Given the description of an element on the screen output the (x, y) to click on. 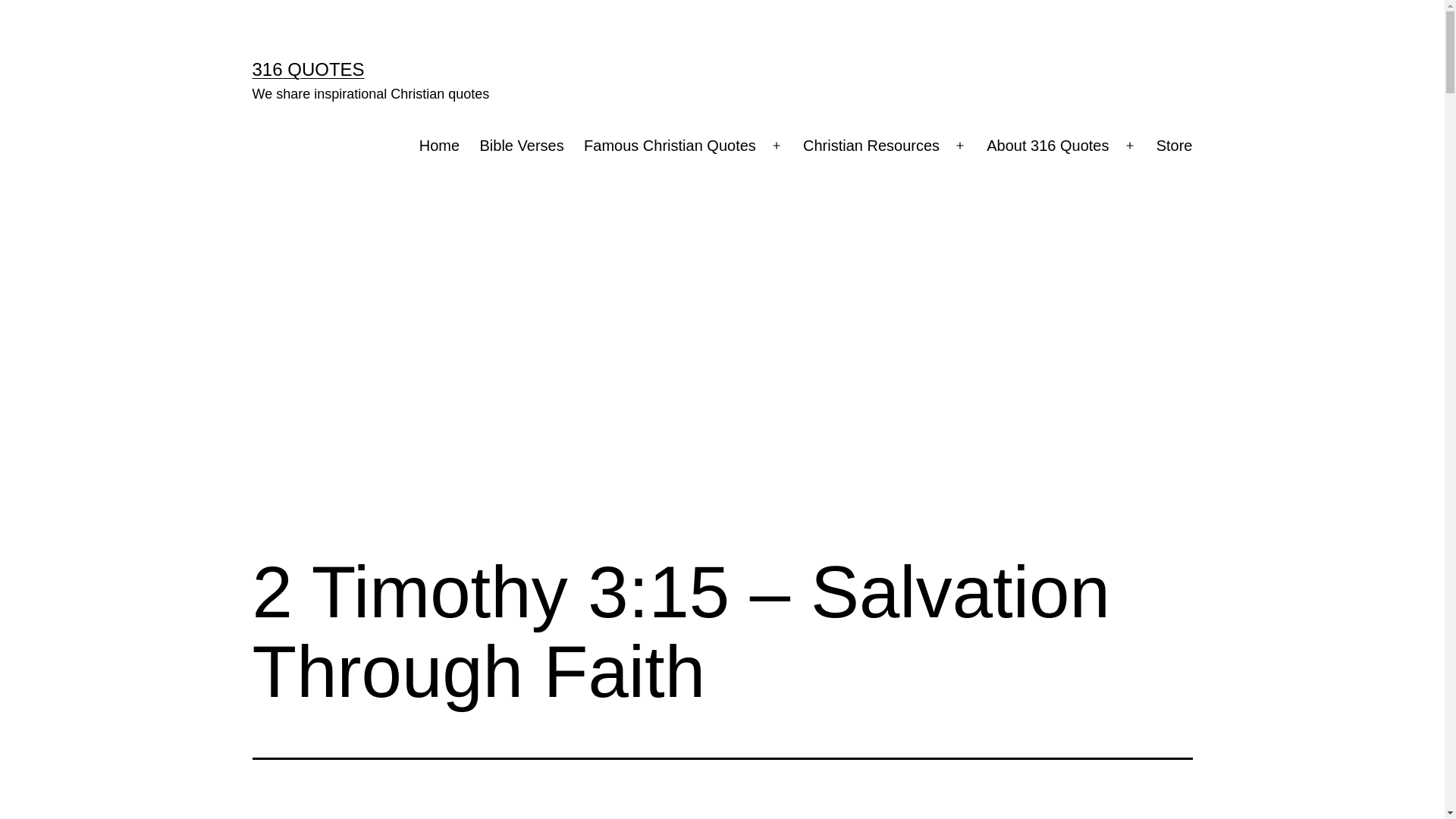
Home Element type: text (439, 145)
Advertisement Element type: hover (721, 347)
Open menu Element type: text (776, 145)
Christian Resources Element type: text (871, 145)
About 316 Quotes Element type: text (1047, 145)
Store Element type: text (1174, 145)
Open menu Element type: text (959, 145)
Famous Christian Quotes Element type: text (669, 145)
Open menu Element type: text (1129, 145)
Bible Verses Element type: text (521, 145)
316 QUOTES Element type: text (307, 69)
